Given the description of an element on the screen output the (x, y) to click on. 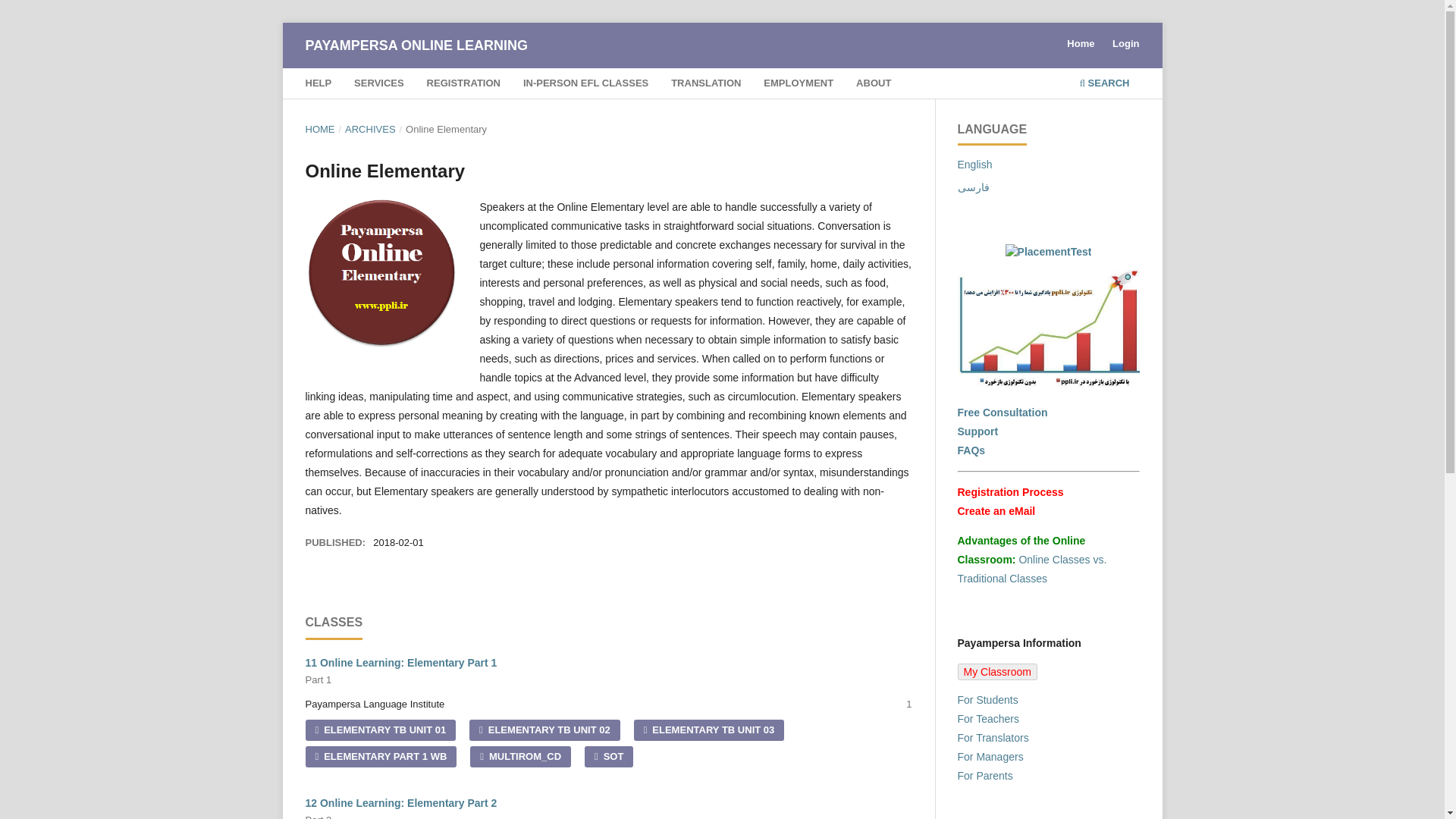
IN-PERSON EFL CLASSES (585, 85)
Translators (991, 737)
EMPLOYMENT (607, 671)
ELEMENTARY TB UNIT 01 (798, 85)
ABOUT (379, 730)
Listen (873, 85)
Support (1047, 382)
Parents (976, 431)
Login (983, 775)
